Given the description of an element on the screen output the (x, y) to click on. 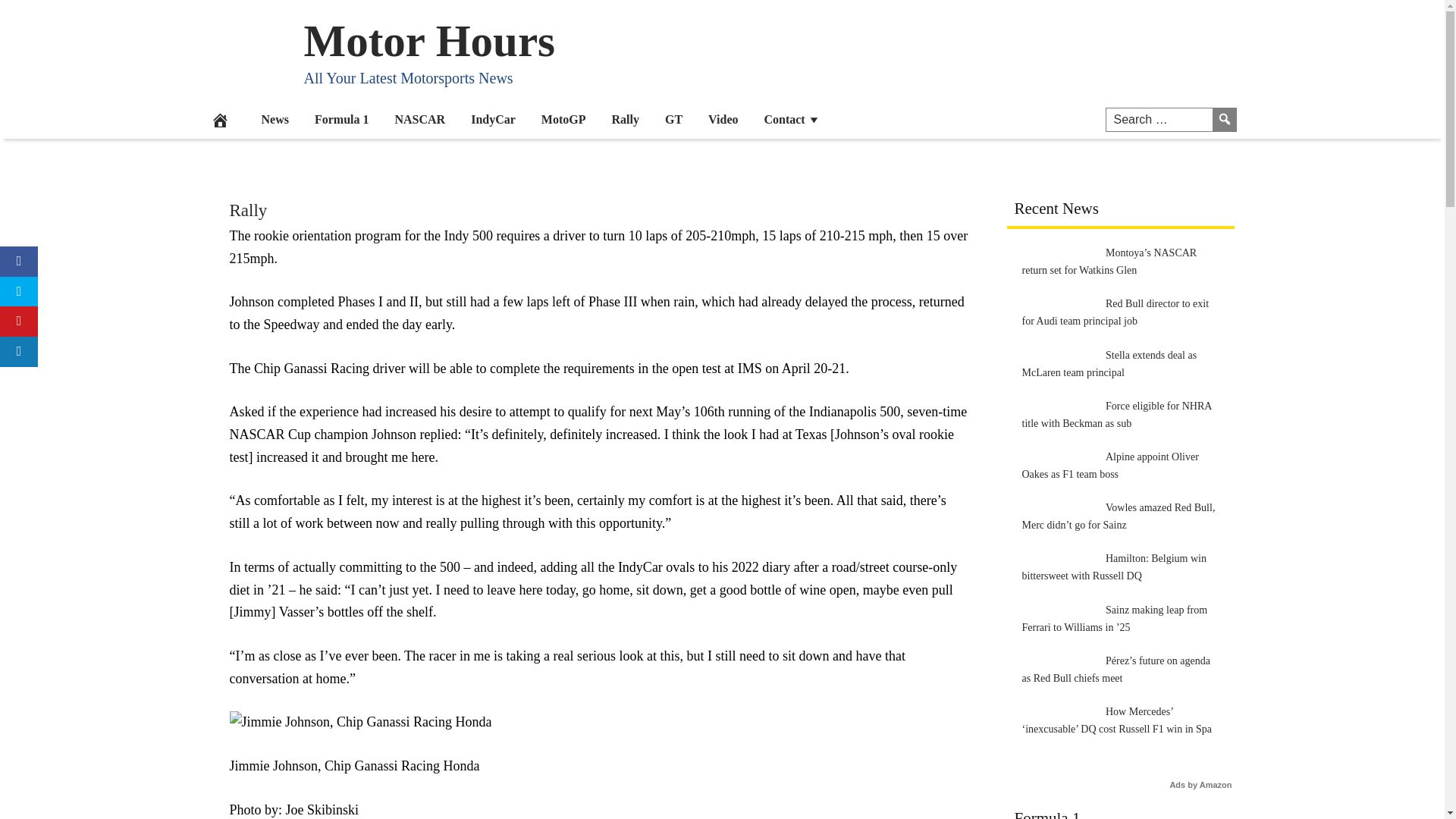
Contact (791, 118)
Motor Hours (428, 40)
Formula 1 (341, 118)
MotoGP (563, 118)
IndyCar (493, 118)
Rally (625, 118)
GT (673, 118)
News (274, 118)
Rally (247, 210)
NASCAR (419, 118)
Video (723, 118)
